Given the description of an element on the screen output the (x, y) to click on. 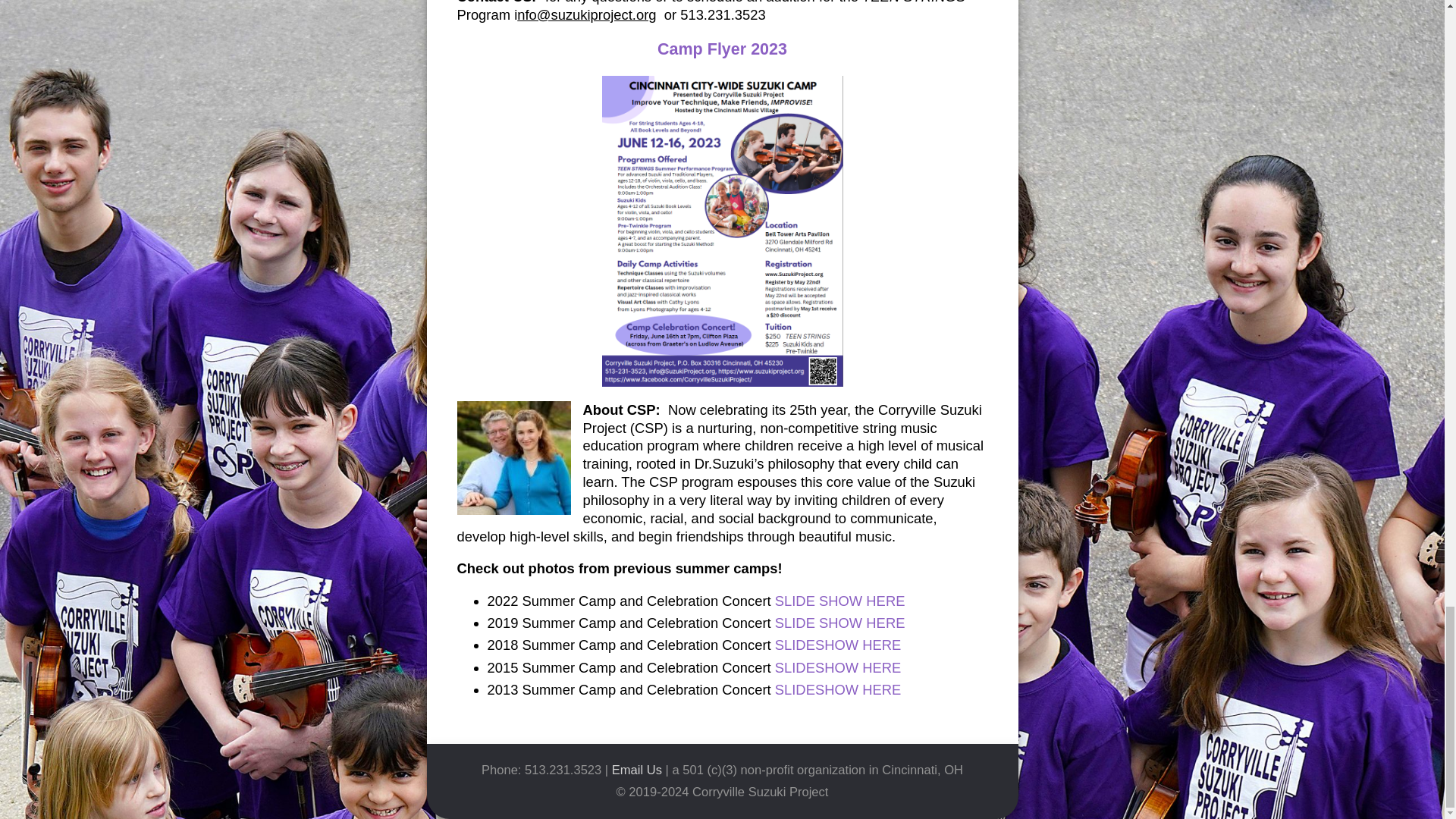
SLIDE SHOW HERE (839, 622)
SLIDE SHOW HERE (839, 600)
SLIDESHOW HERE (837, 667)
Camp Flyer 2023 (722, 49)
SLIDESHOW HERE (837, 644)
